Given the description of an element on the screen output the (x, y) to click on. 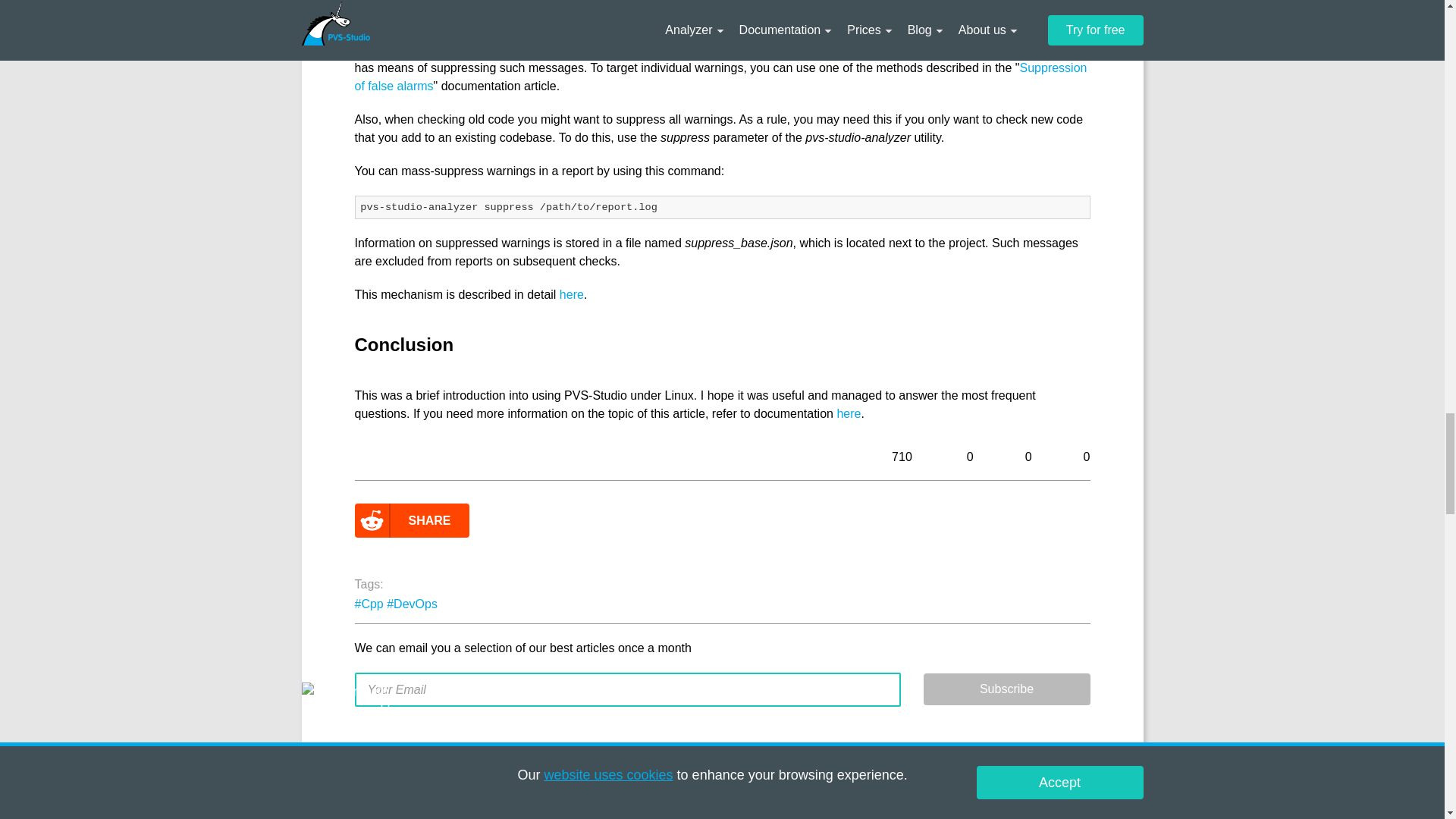
Comments (952, 456)
Subscribe (1006, 689)
Like (1012, 456)
Views (884, 456)
Dislike (1070, 456)
